Given the description of an element on the screen output the (x, y) to click on. 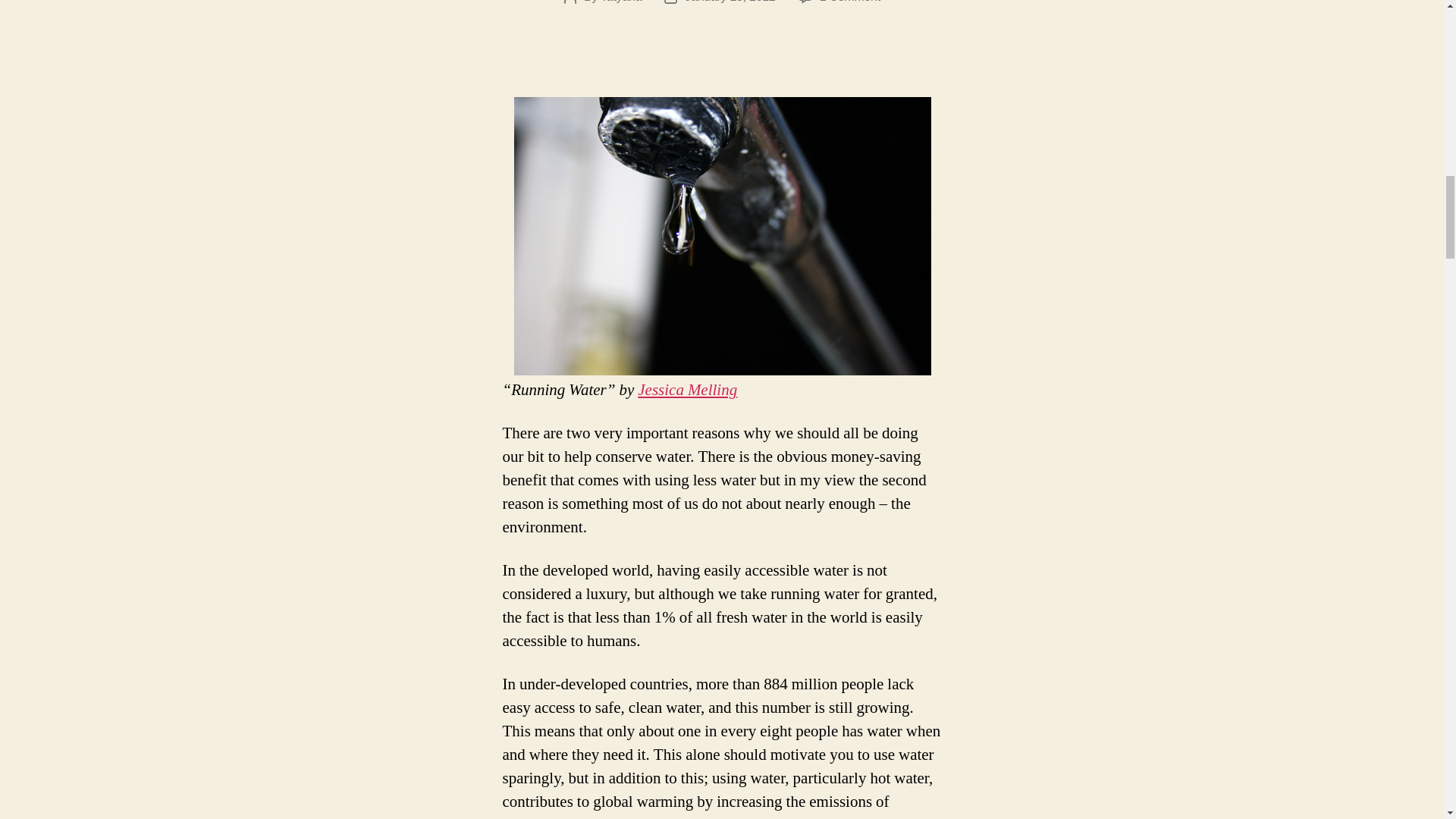
Running Water by Jessica Melling (686, 390)
